Given the description of an element on the screen output the (x, y) to click on. 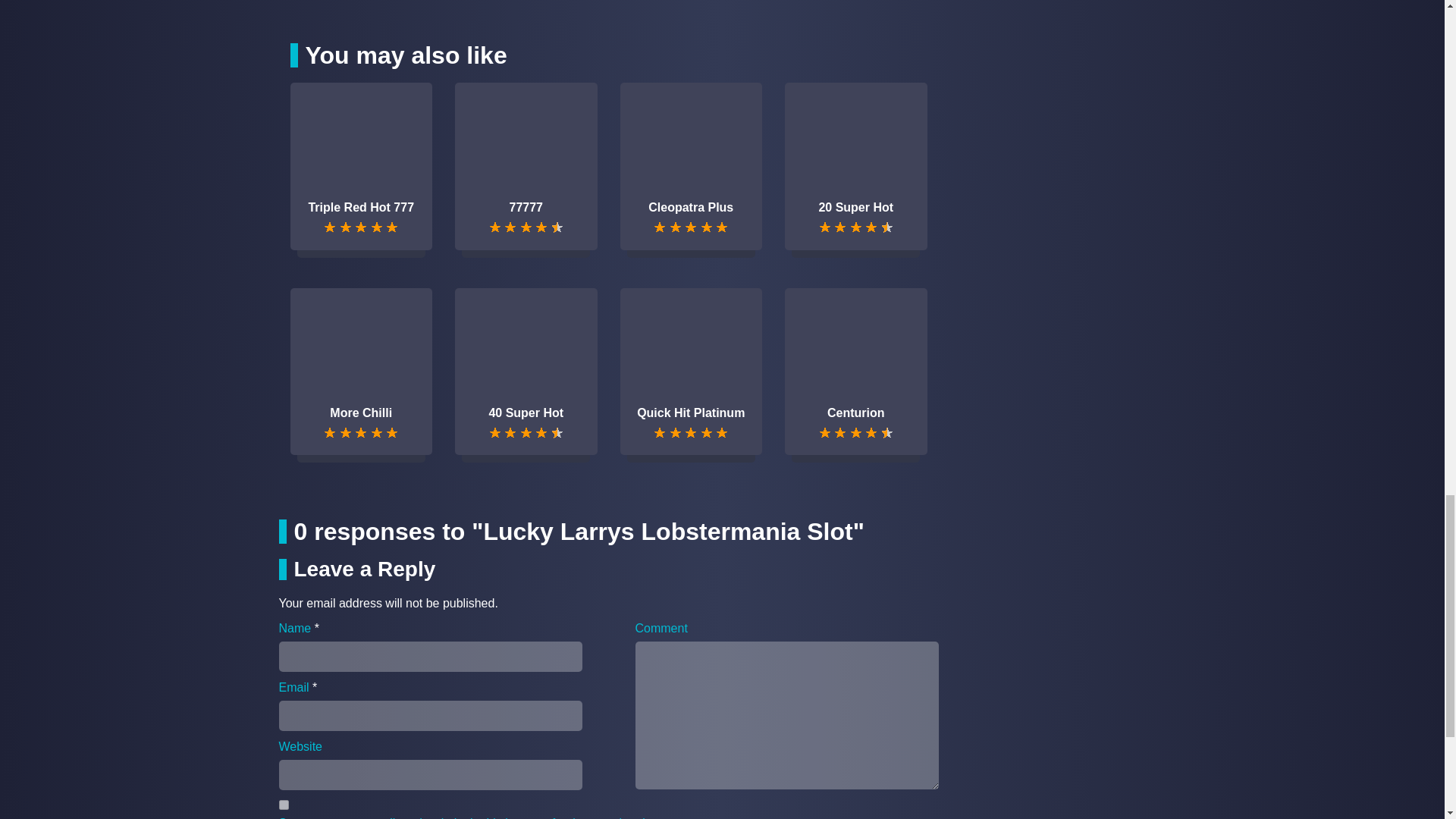
yes (283, 804)
